Given the description of an element on the screen output the (x, y) to click on. 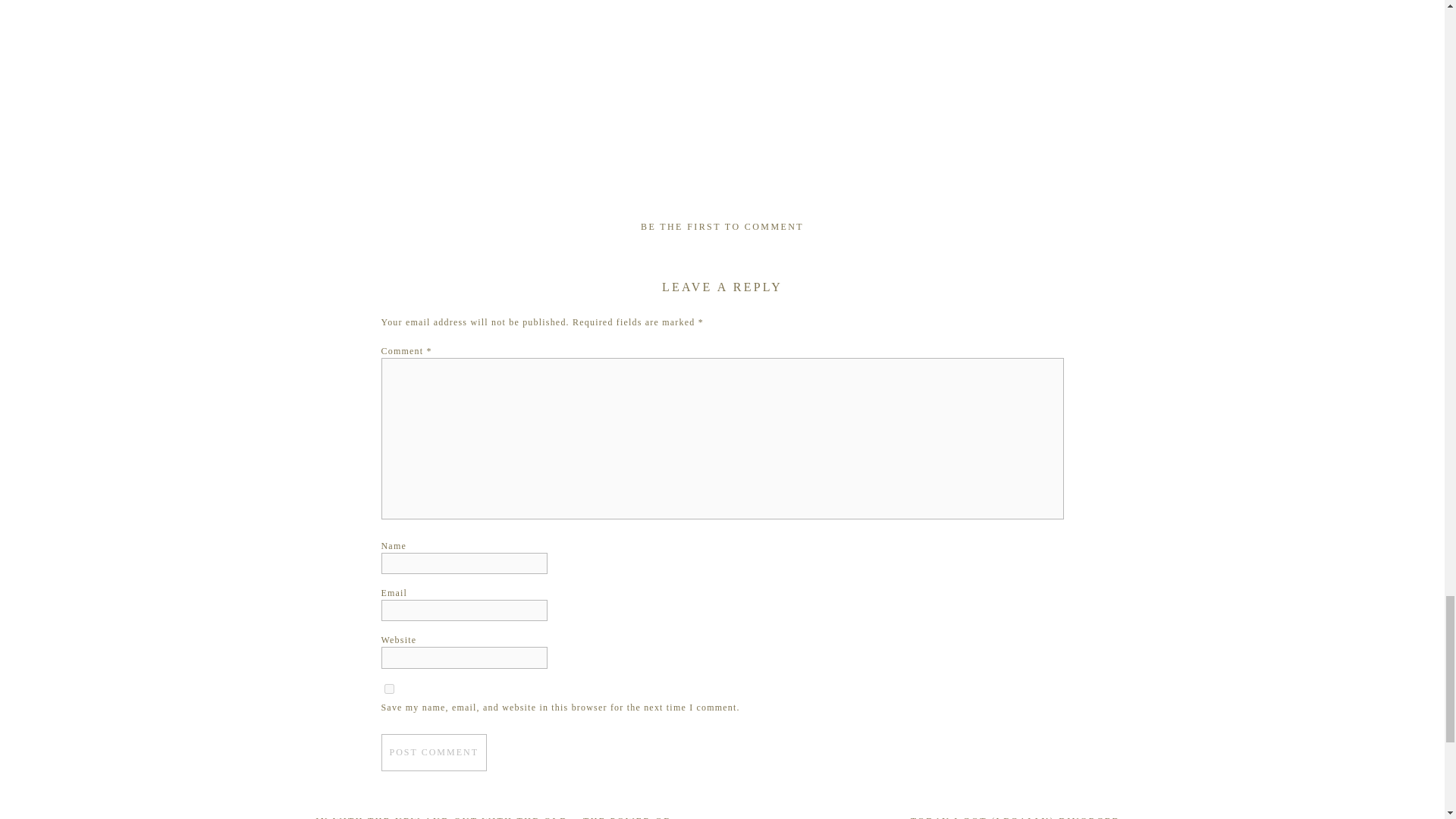
Post Comment (433, 751)
BE THE FIRST TO COMMENT (721, 226)
yes (388, 688)
Post Comment (433, 751)
